Given the description of an element on the screen output the (x, y) to click on. 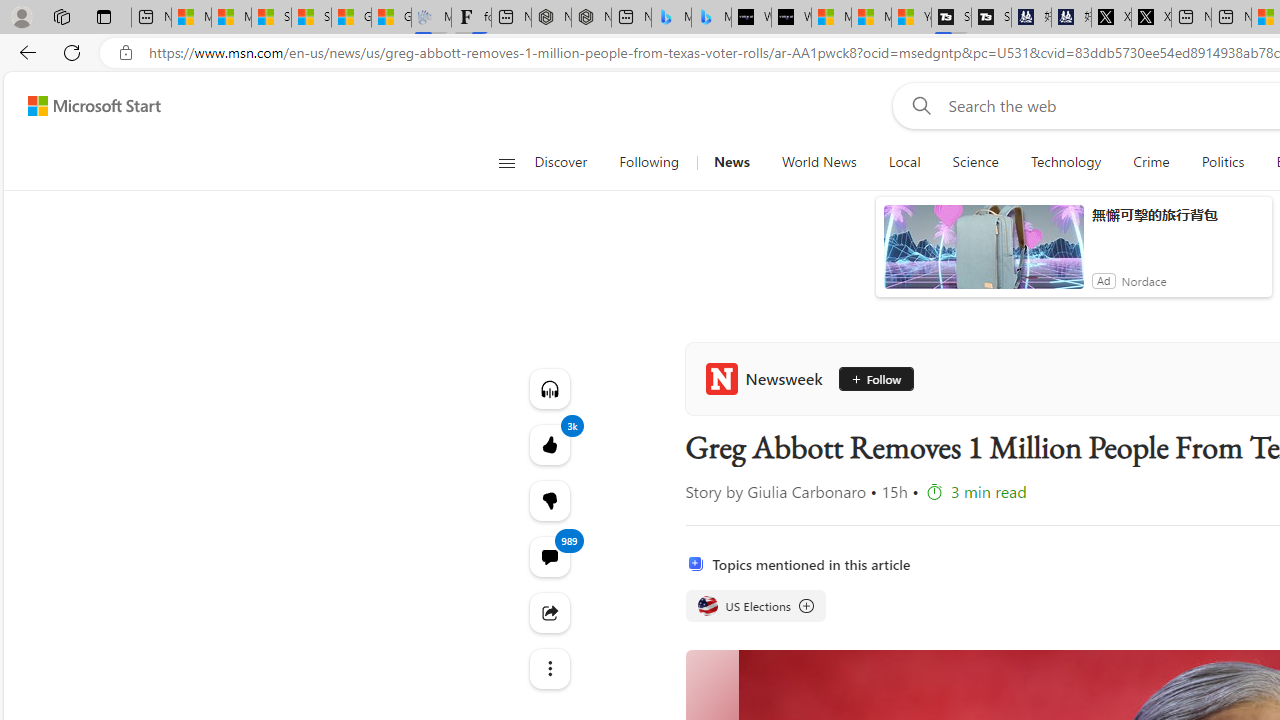
Follow (868, 378)
Share this story (548, 612)
Local (904, 162)
